Given the description of an element on the screen output the (x, y) to click on. 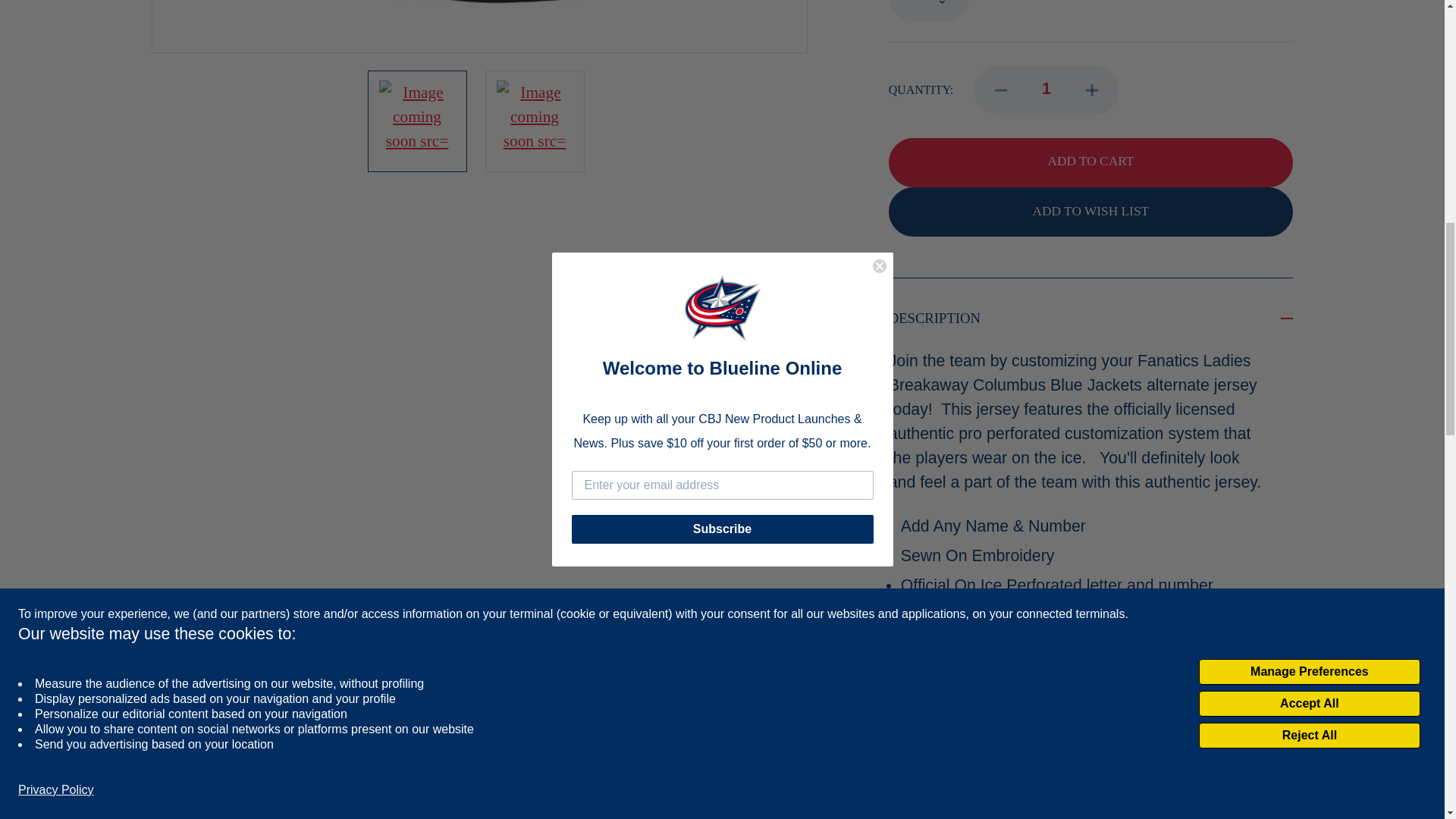
Fanatics Ladies Breakaway Third Jersey (534, 118)
Add to Cart (1090, 162)
Fanatics Ladies Breakaway Third Jersey (416, 118)
0 (928, 11)
Fanatics Ladies Breakaway Third Jersey (76, 25)
Fanatics Ladies Breakaway Third Jersey (479, 25)
